Given the description of an element on the screen output the (x, y) to click on. 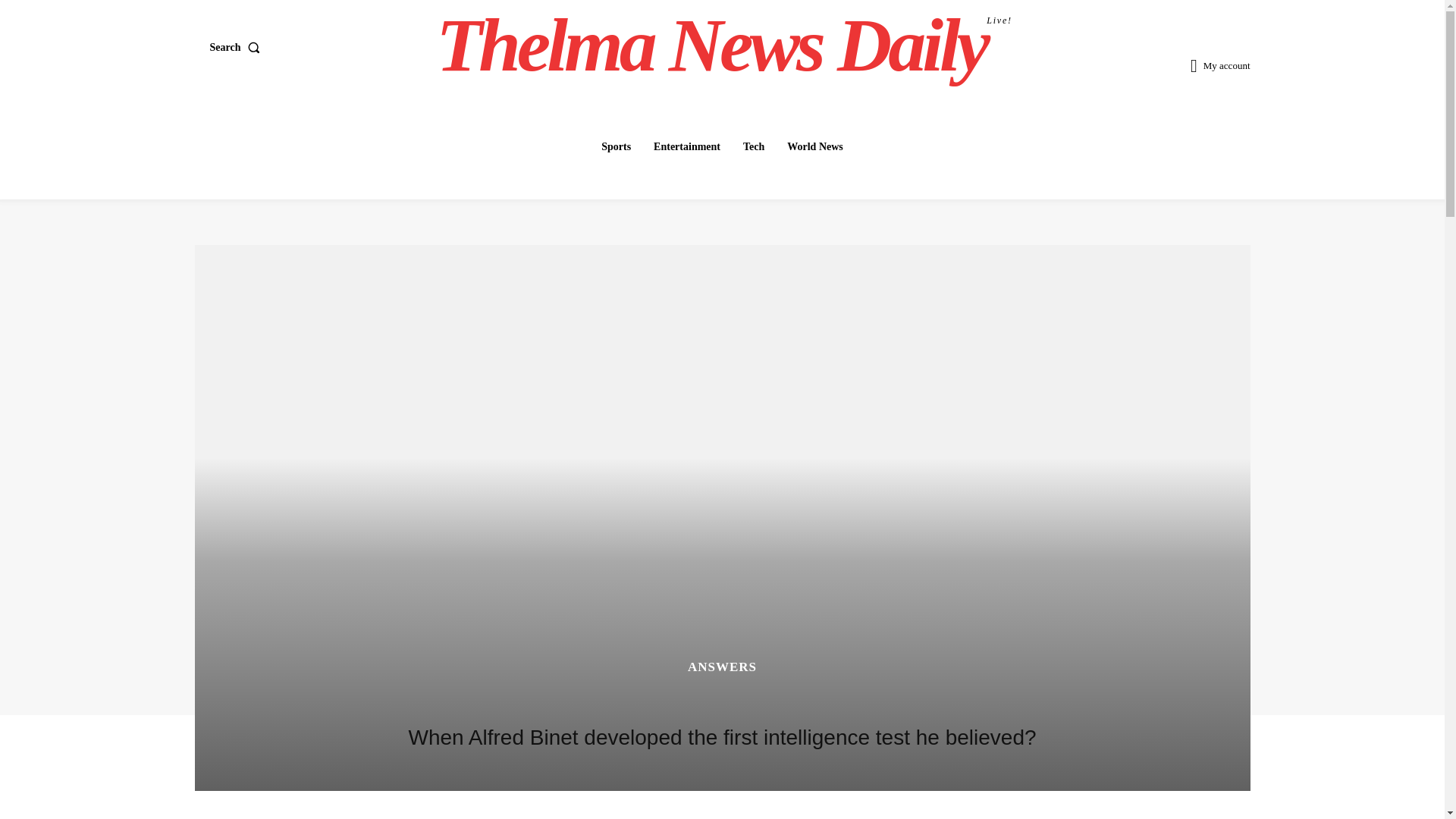
Search (237, 47)
World News (814, 146)
Entertainment (687, 146)
Sports (616, 146)
Tech (724, 45)
ANSWERS (753, 146)
